Given the description of an element on the screen output the (x, y) to click on. 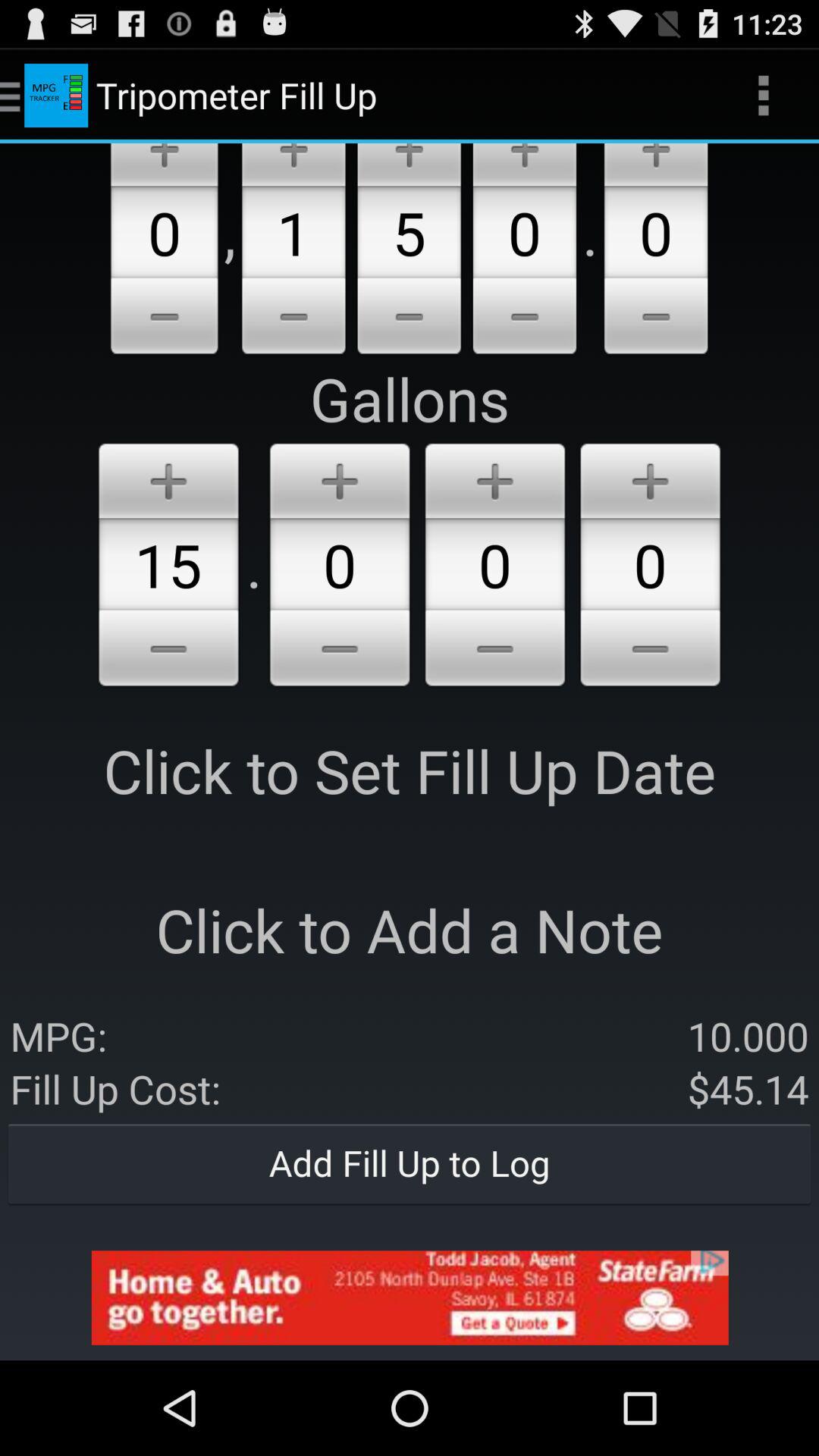
increase by one (524, 164)
